Given the description of an element on the screen output the (x, y) to click on. 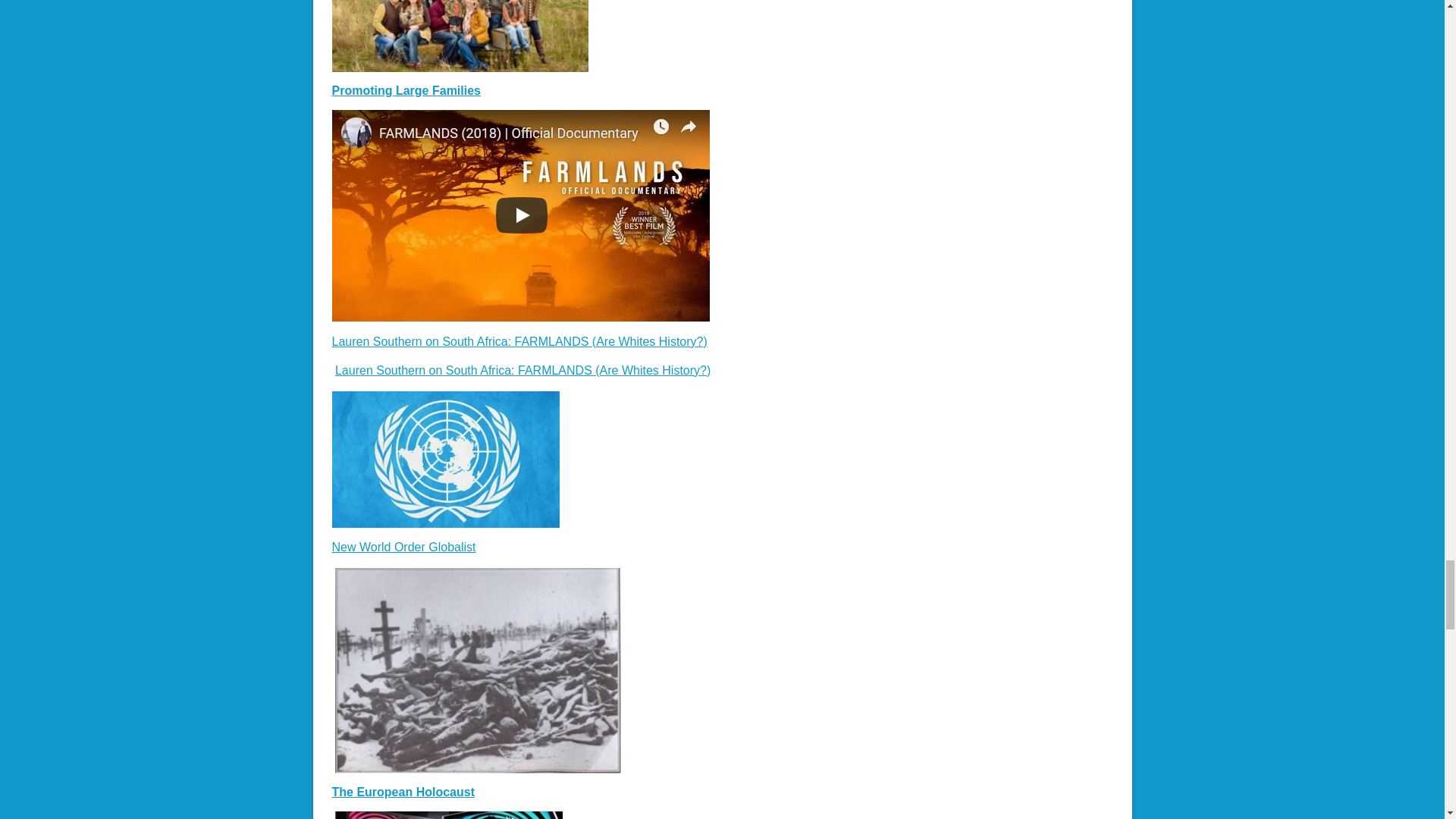
Promoting Large Families (405, 90)
The European Holocaust (402, 791)
New World Order Globalist (403, 546)
